Given the description of an element on the screen output the (x, y) to click on. 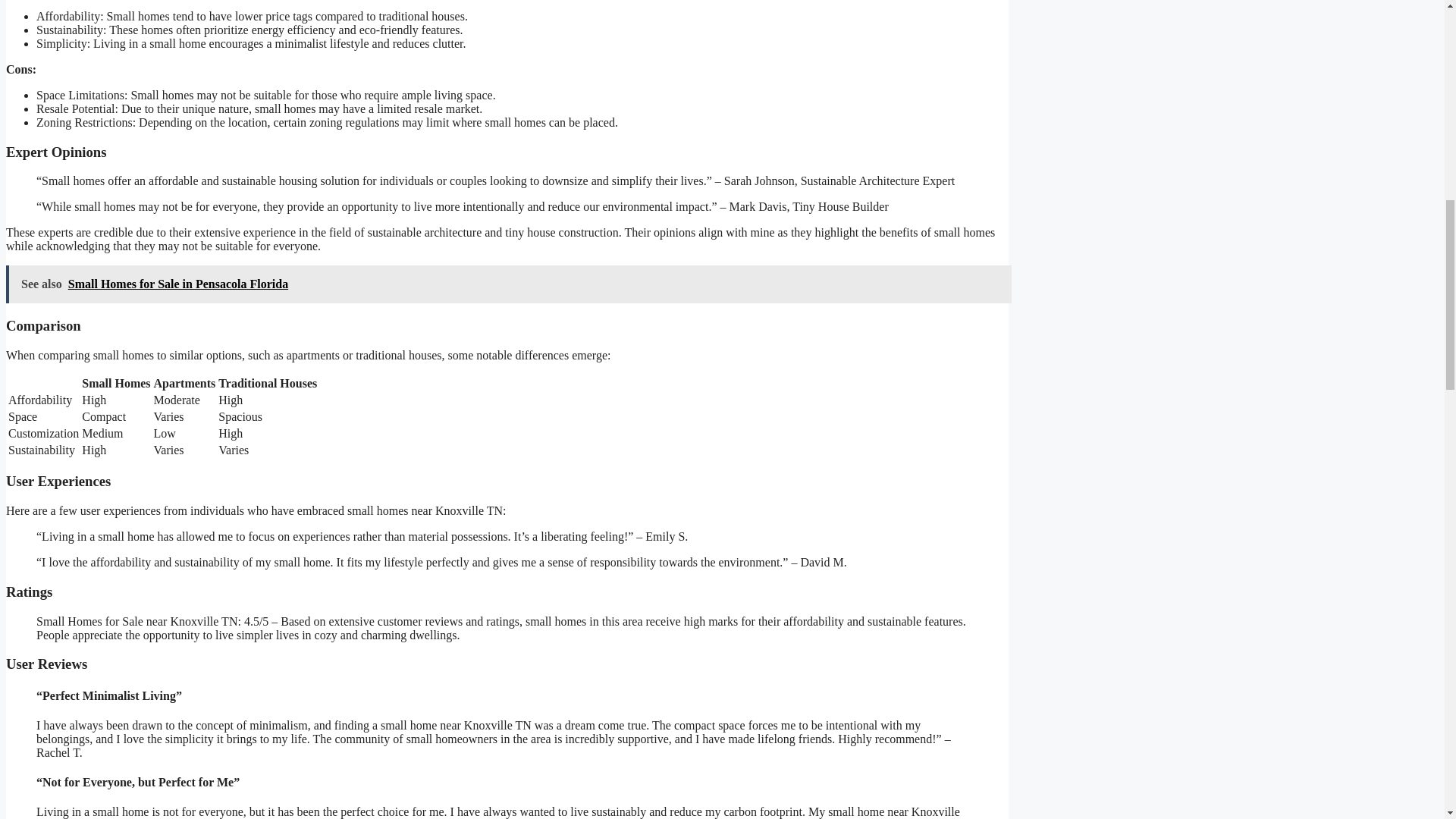
See also  Small Homes for Sale in Pensacola Florida (508, 284)
